Given the description of an element on the screen output the (x, y) to click on. 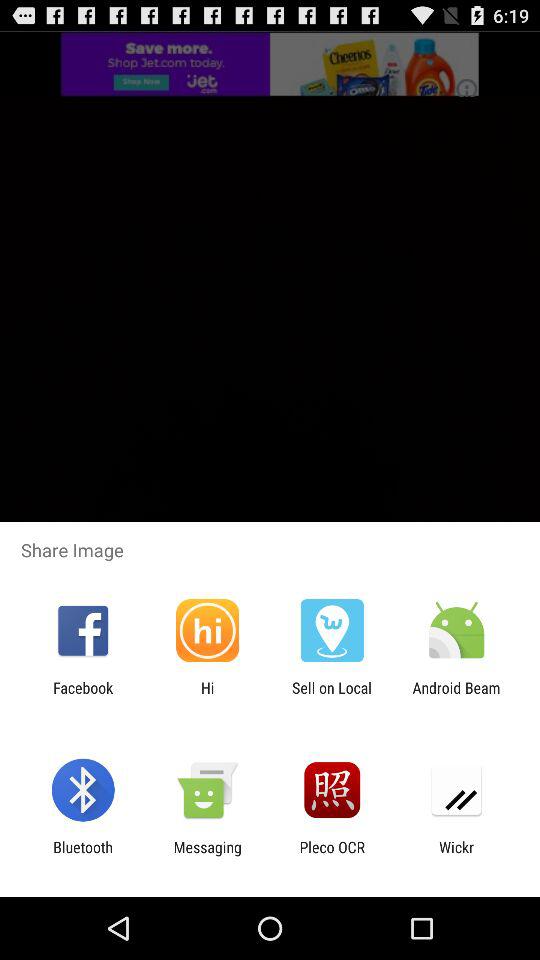
press the icon next to the bluetooth (207, 856)
